Given the description of an element on the screen output the (x, y) to click on. 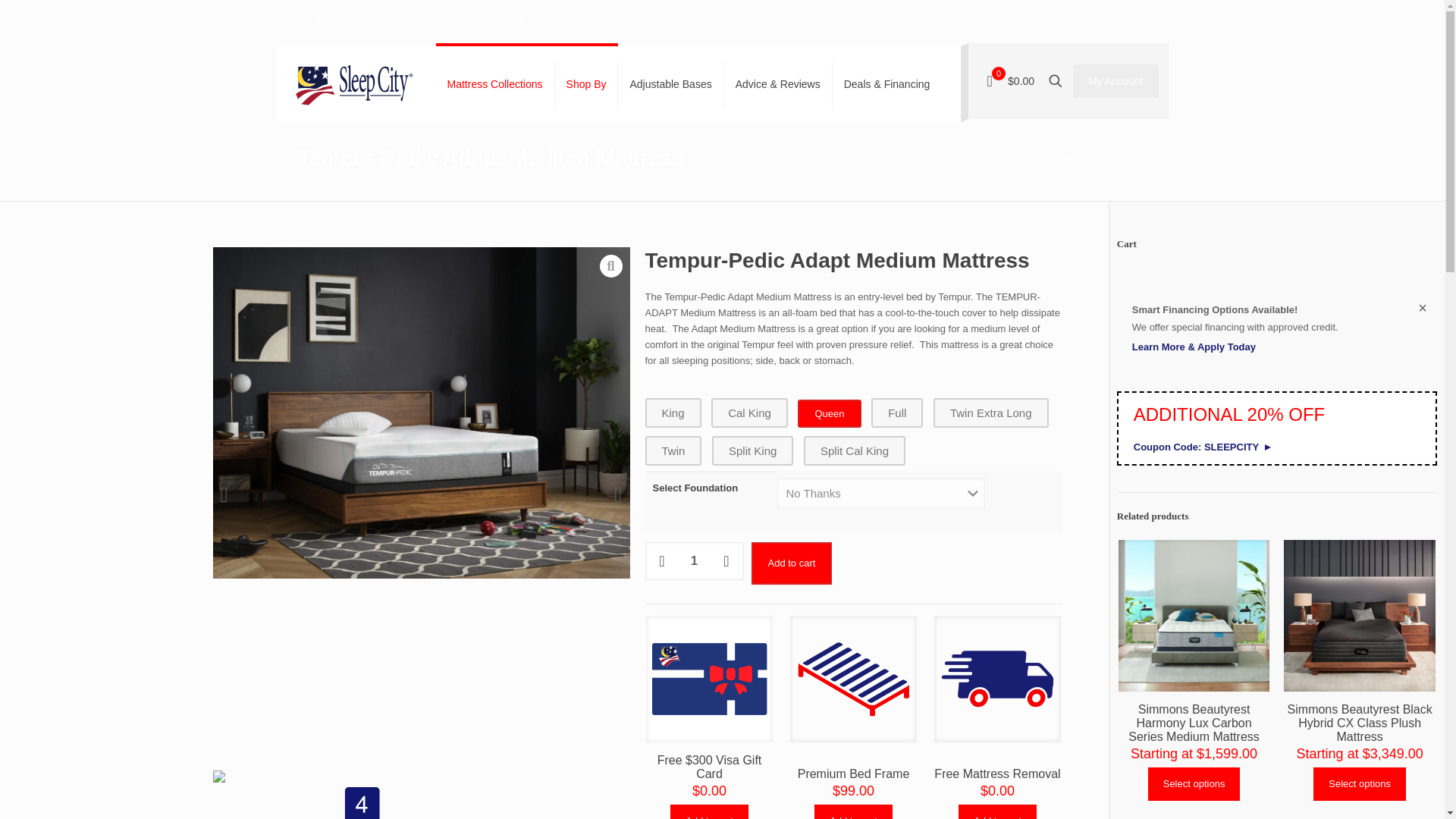
King (672, 412)
Twin (673, 450)
1-877-246-7533 (514, 22)
Mattress Collections (494, 83)
Full (896, 412)
Sleep City (351, 83)
1 (693, 560)
Twin Extra Long (990, 412)
Split Cal King (854, 450)
Split King (752, 450)
Queen (828, 413)
Cal King (749, 412)
